Given the description of an element on the screen output the (x, y) to click on. 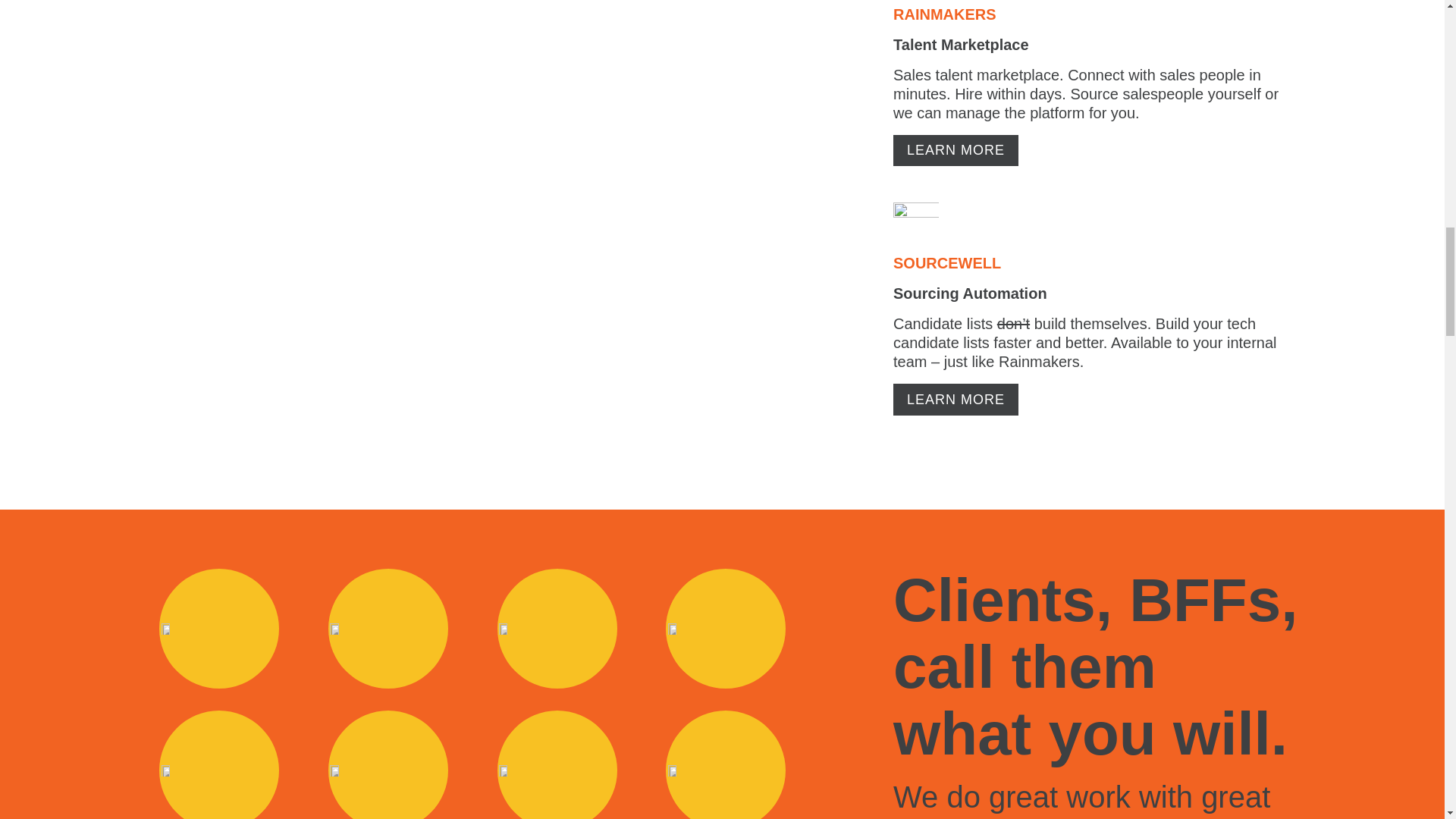
McMasterCarrLogo (335, 628)
Sourcewell (916, 225)
FCB Chicago Logo (167, 628)
atproperties-logo (505, 770)
